Given the description of an element on the screen output the (x, y) to click on. 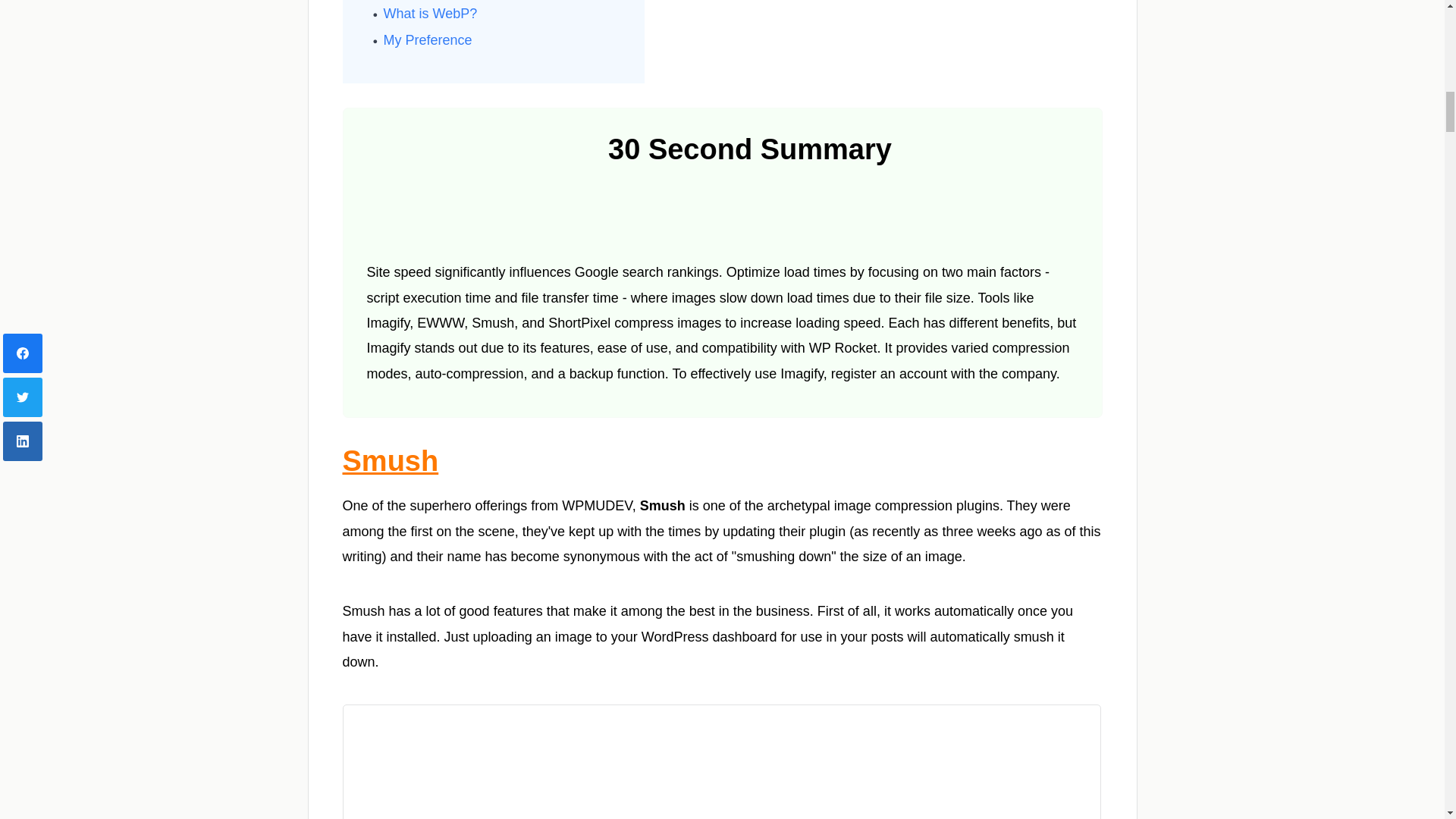
What is WebP? (430, 13)
My Preference (427, 39)
Smush (390, 460)
